Given the description of an element on the screen output the (x, y) to click on. 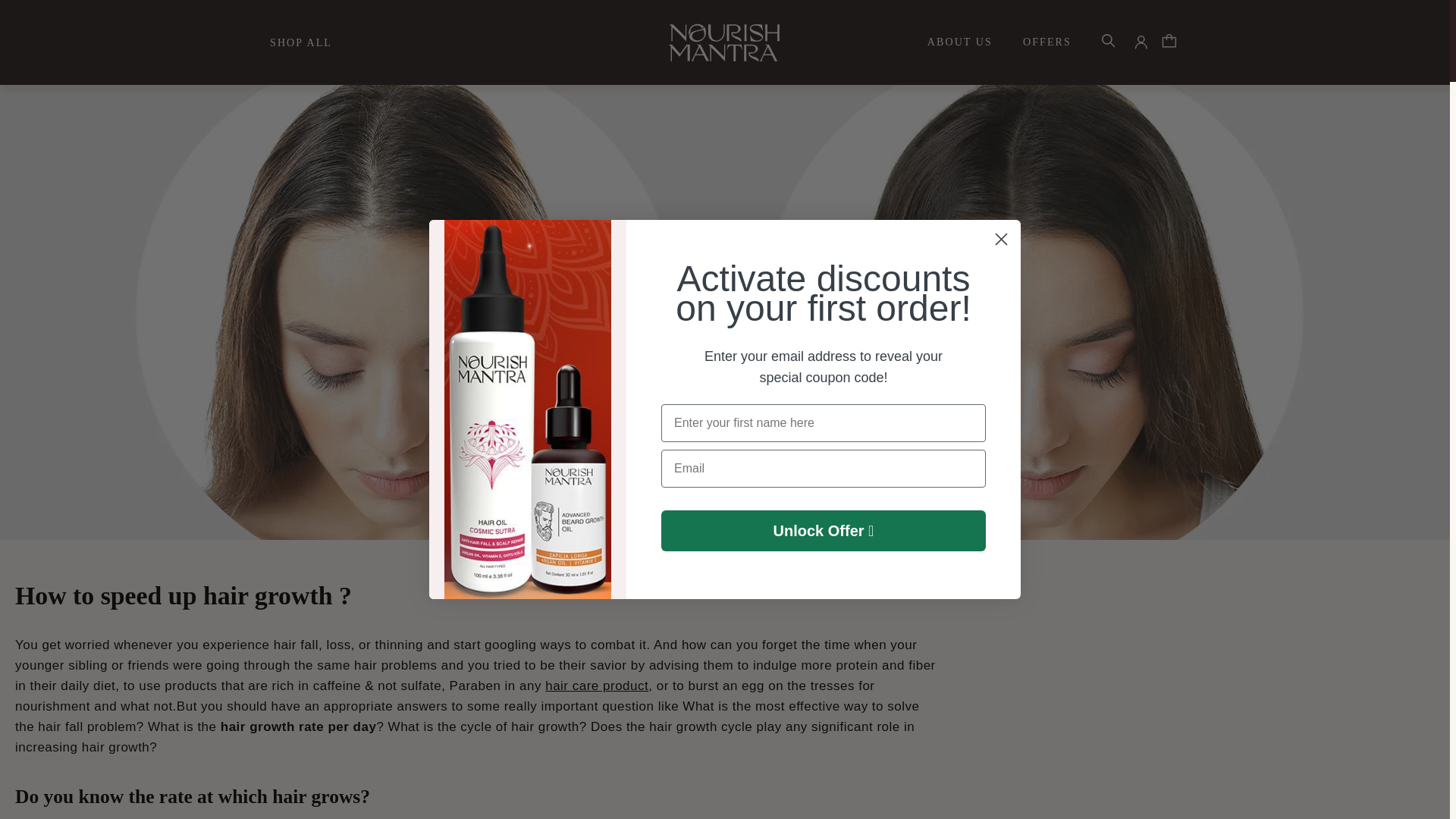
Close dialog 1 (1001, 239)
OFFERS (1047, 42)
Cart (1168, 42)
Search (1112, 42)
SHOP ALL (300, 42)
ABOUT US (959, 42)
